Given the description of an element on the screen output the (x, y) to click on. 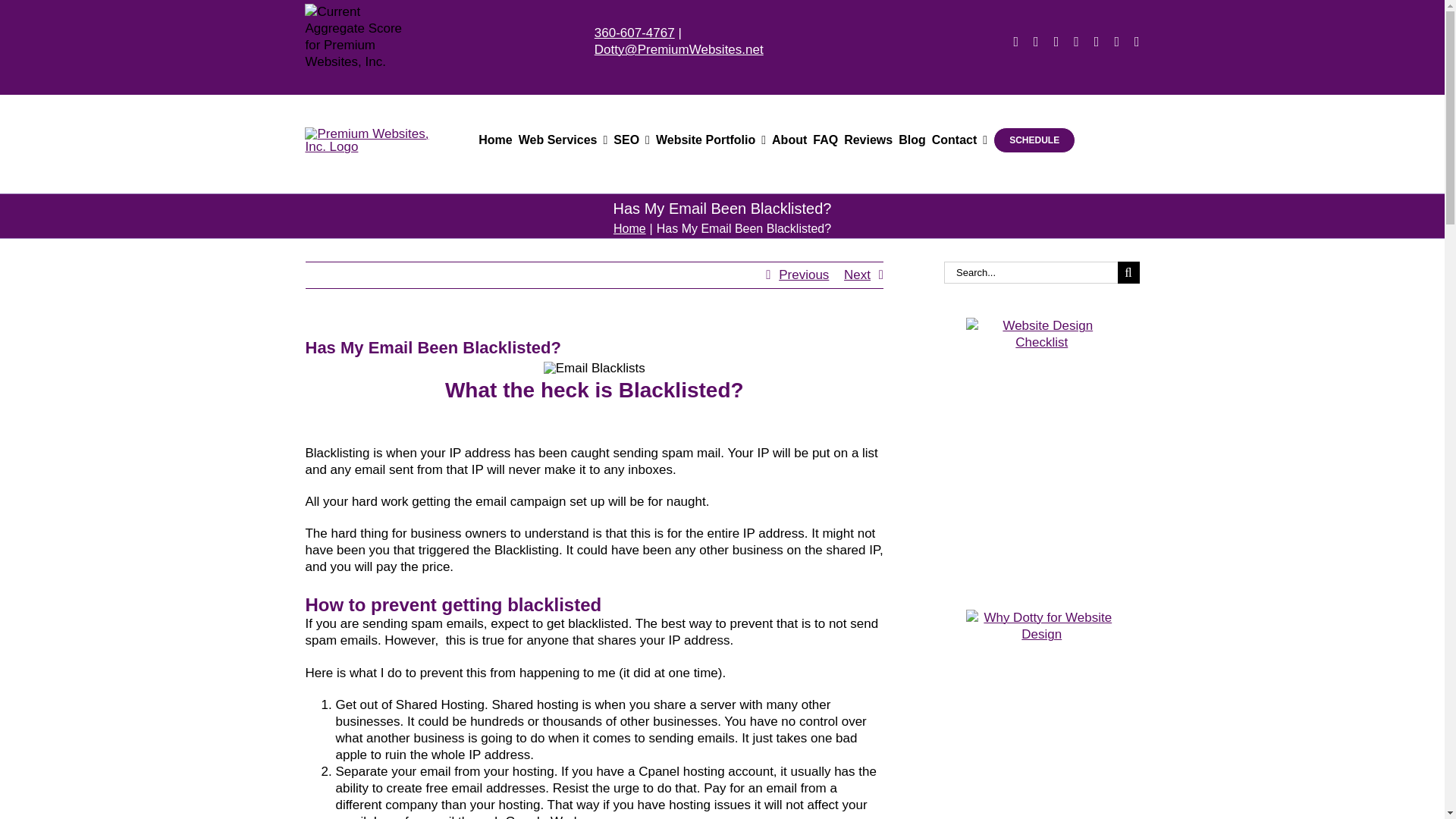
Web Services (563, 140)
Website Portfolio (710, 140)
360-607-4767 (634, 32)
Website Services, Vancouver WA (563, 140)
What the heck is Blacklisted? (593, 403)
